Given the description of an element on the screen output the (x, y) to click on. 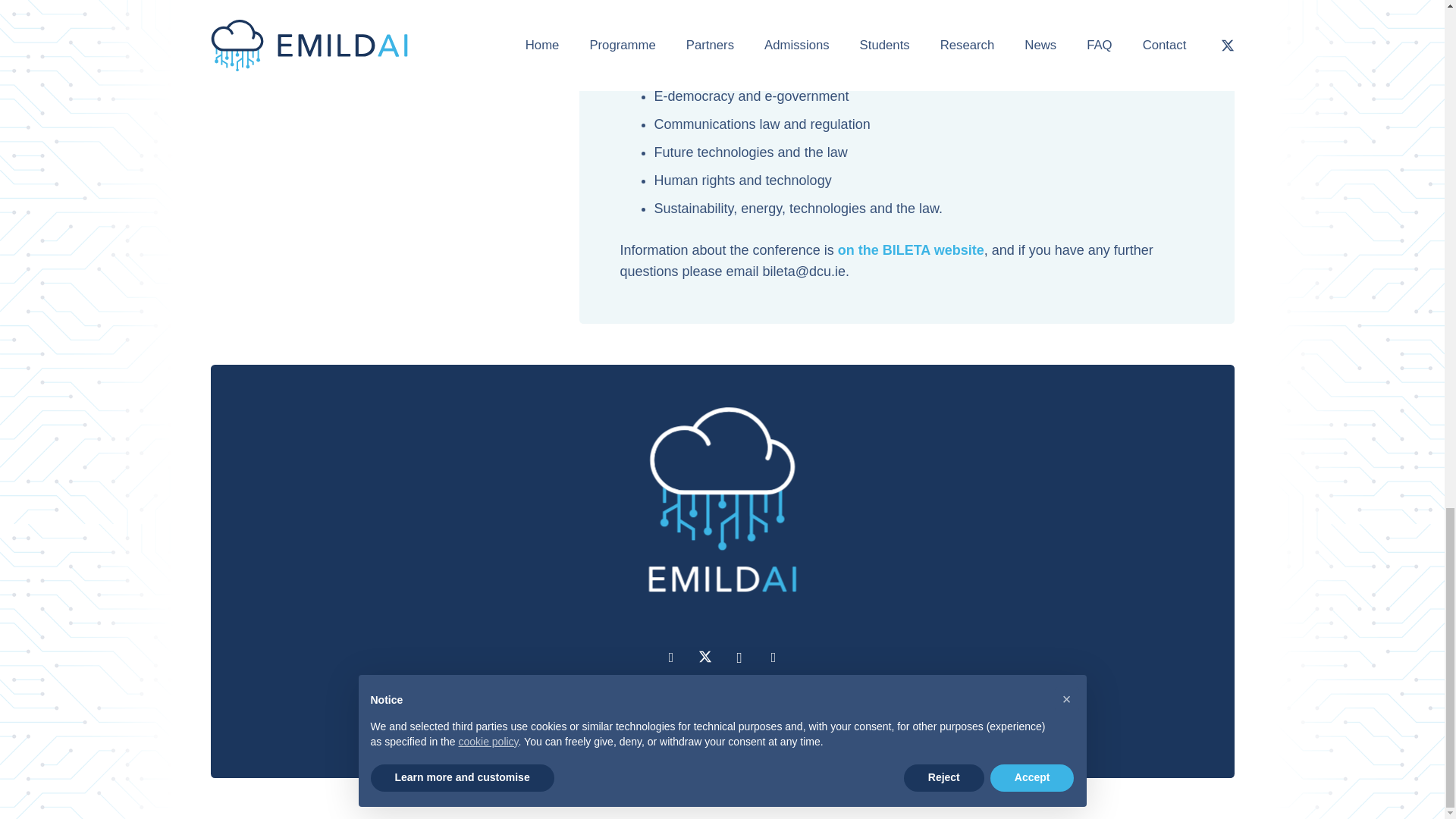
Privacy Policy  (505, 725)
Cookie Policy  (617, 725)
Instagram (738, 657)
Facebook (670, 657)
LinkedIn (773, 657)
Twitter (705, 657)
